Given the description of an element on the screen output the (x, y) to click on. 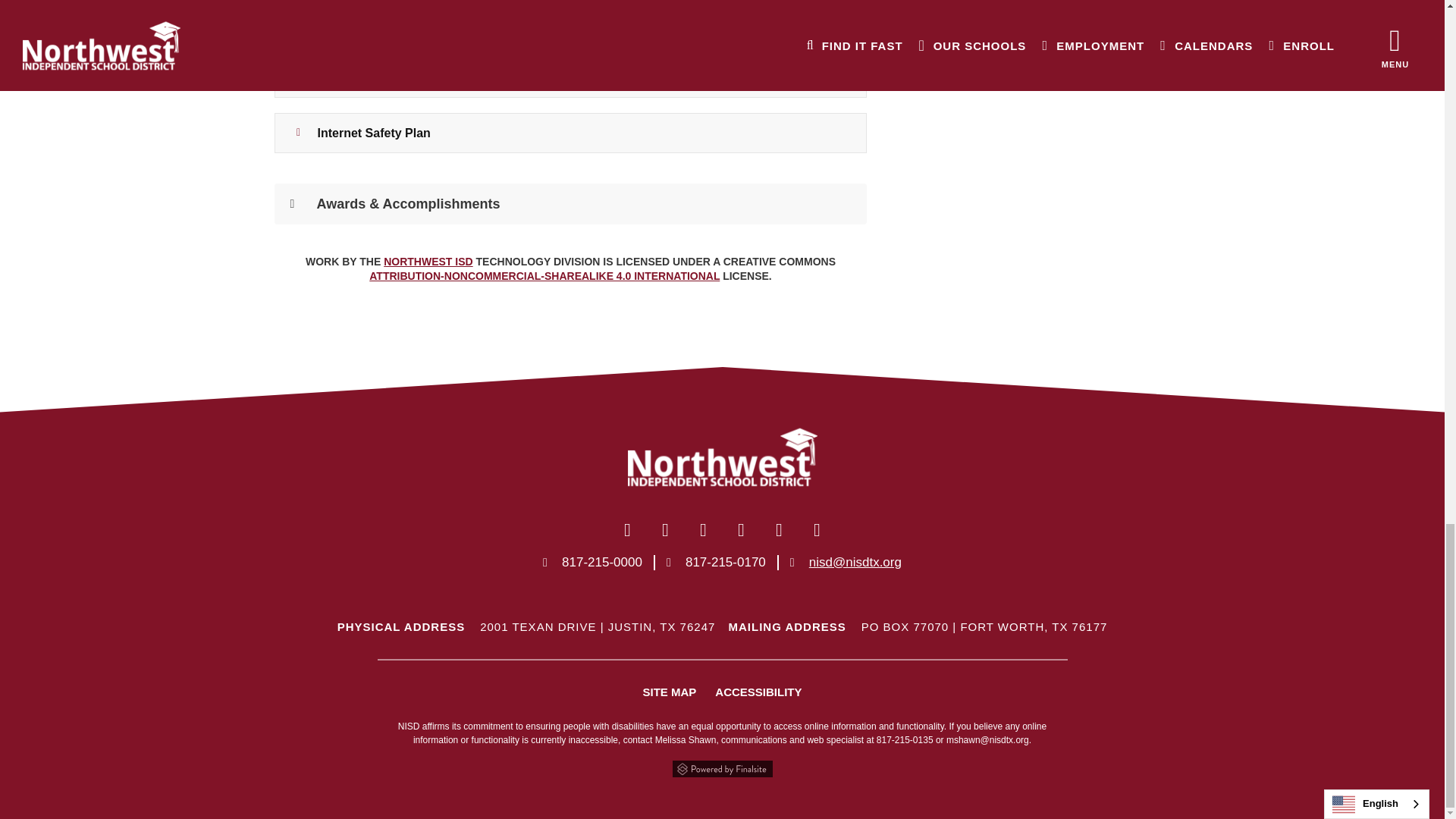
Powered by Finalsite opens in a new window (721, 768)
Internet Safety Plan (570, 133)
Attribution-NonCommercial-ShareAlike 4.0 International (544, 275)
Email (855, 562)
NISD Homepage (427, 261)
NISD Long Range Technology Plan (570, 77)
